Given the description of an element on the screen output the (x, y) to click on. 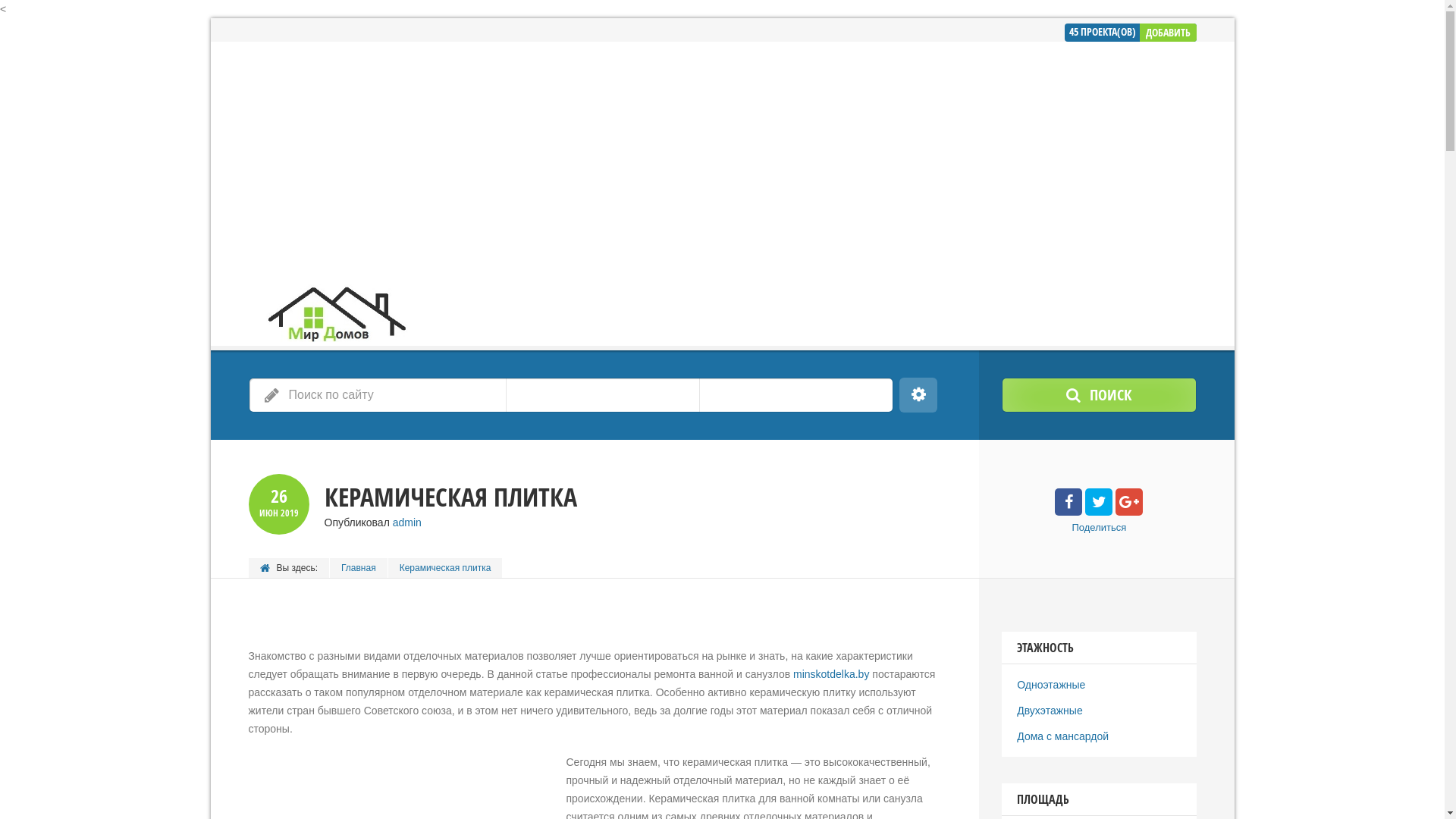
minskotdelka.by Element type: text (831, 674)
Advertisement Element type: hover (721, 155)
MirDomov.by Element type: hover (333, 309)
